Given the description of an element on the screen output the (x, y) to click on. 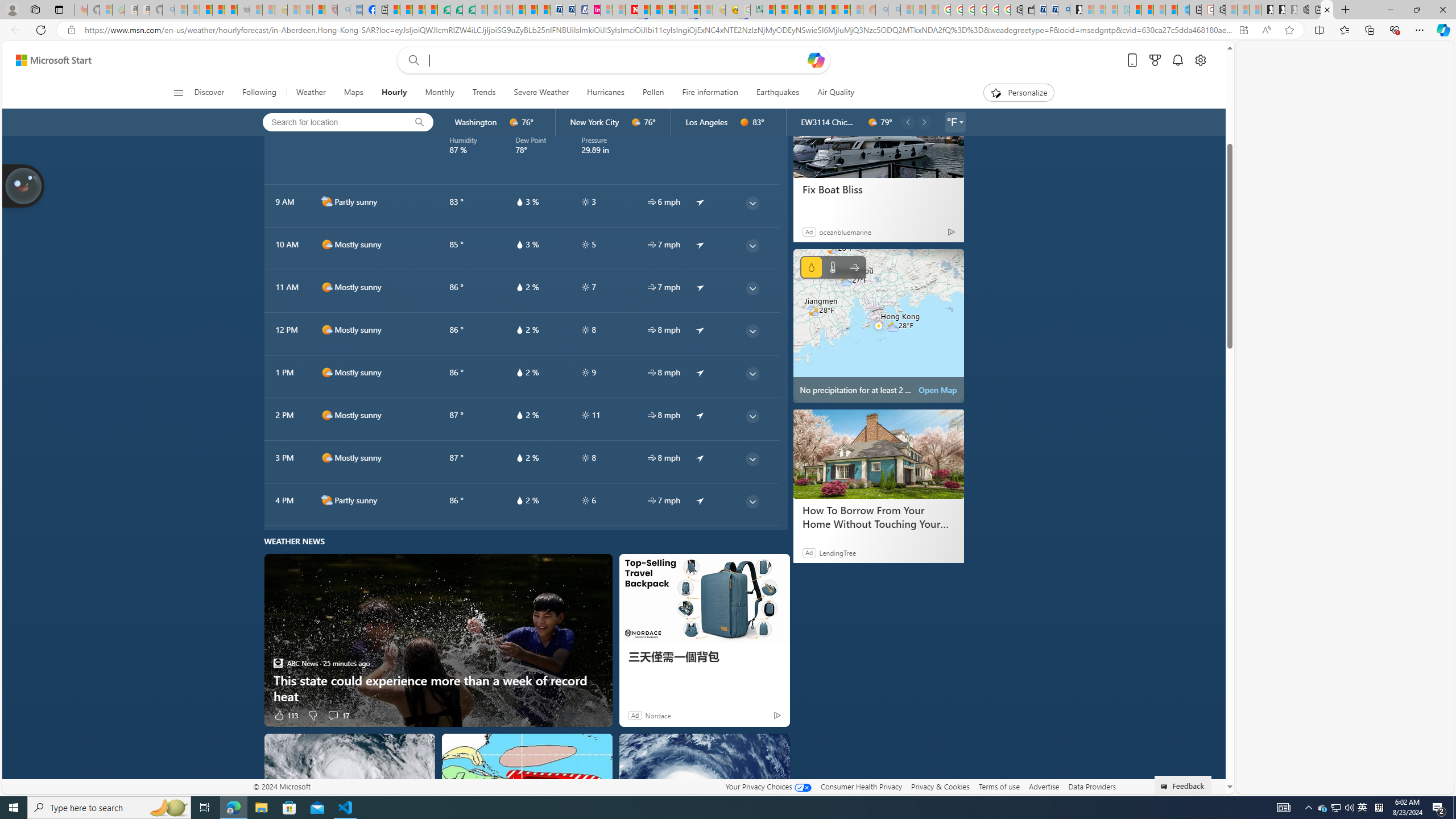
LendingTree - Compare Lenders (443, 9)
d1000 (326, 457)
common/carouselChevron (924, 122)
LendingTree (837, 552)
